Given the description of an element on the screen output the (x, y) to click on. 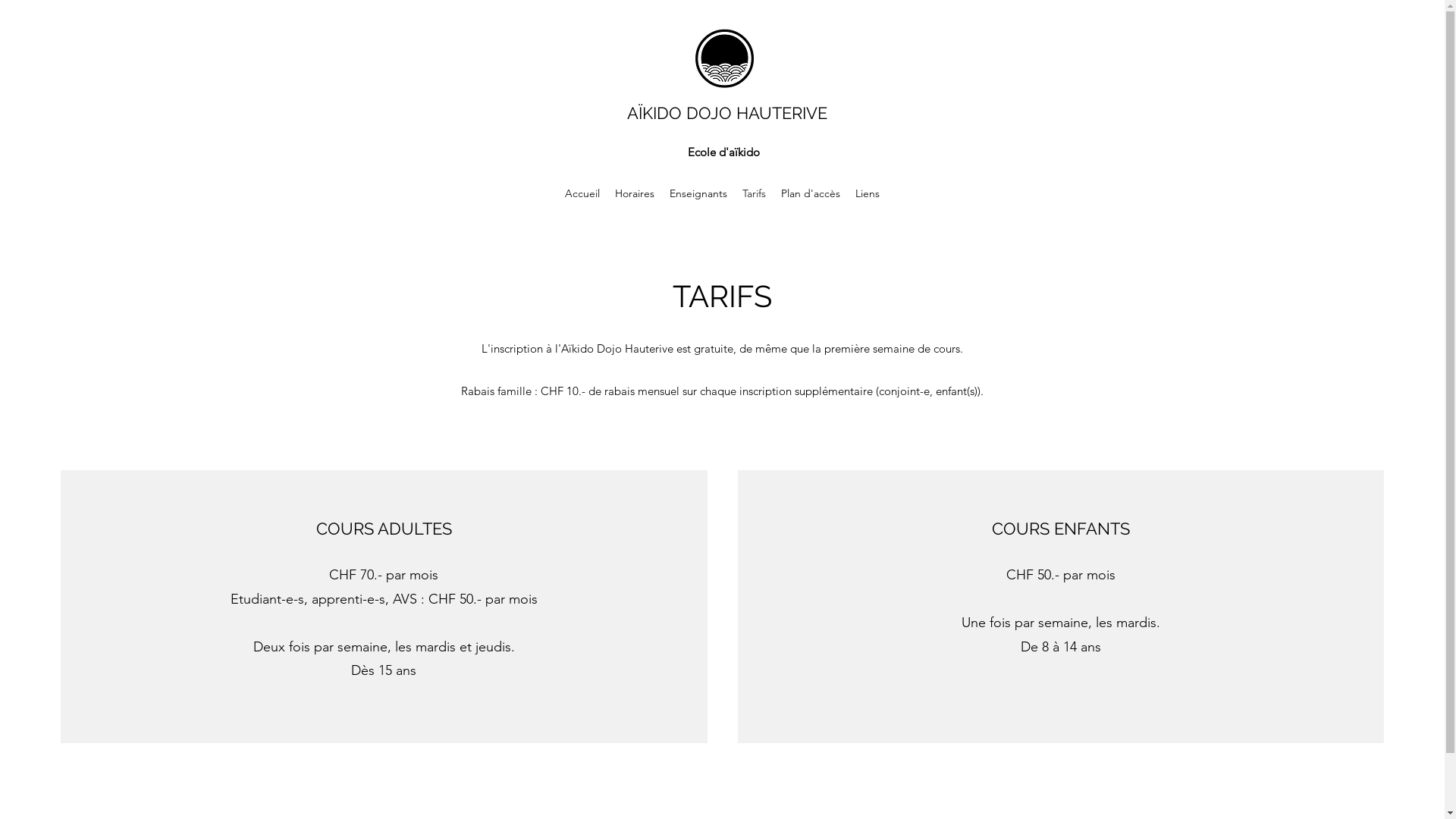
Tarifs Element type: text (753, 193)
Horaires Element type: text (634, 193)
Accueil Element type: text (582, 193)
Enseignants Element type: text (698, 193)
Liens Element type: text (867, 193)
